Given the description of an element on the screen output the (x, y) to click on. 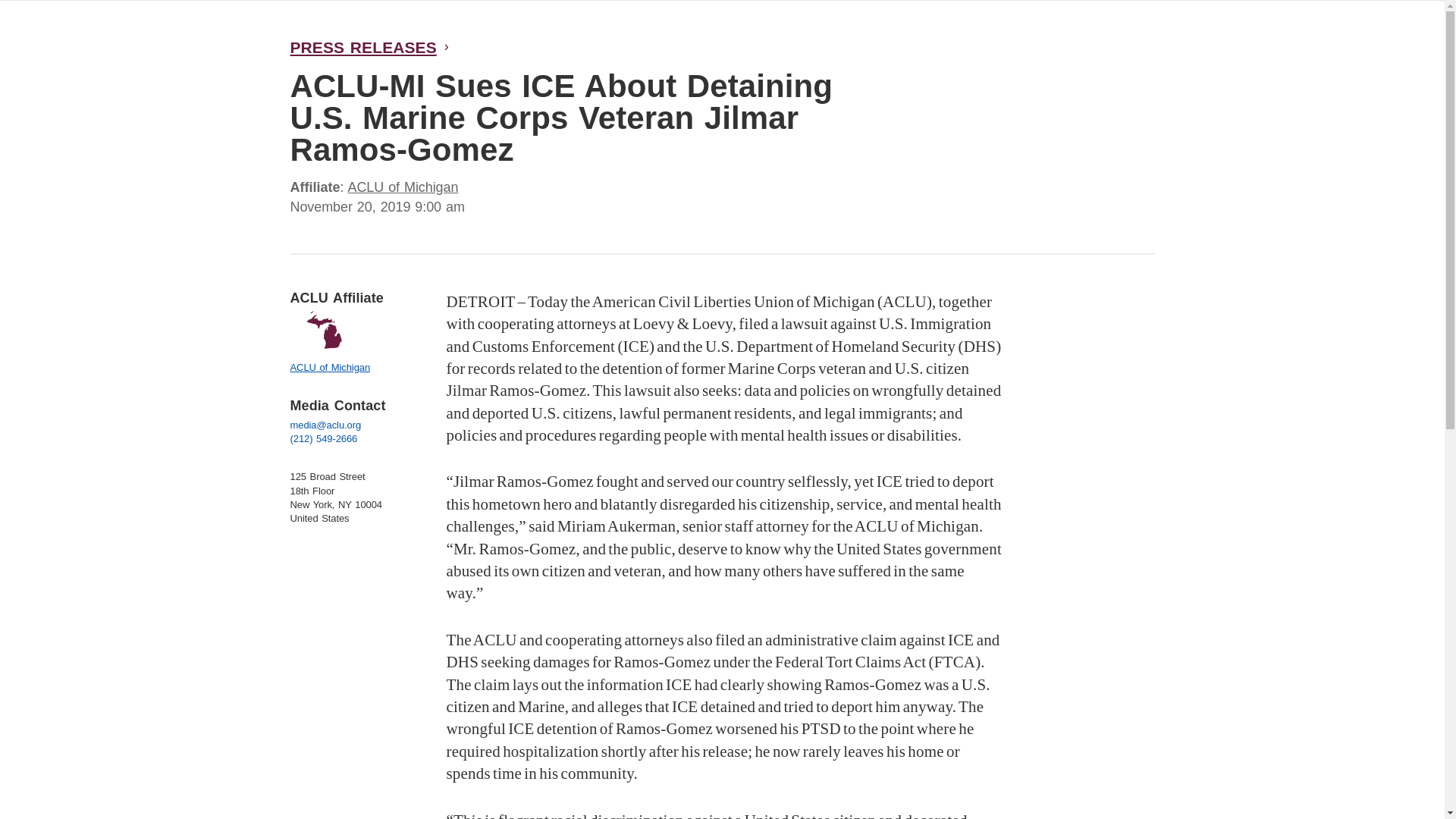
ACLU of Michigan (402, 186)
ACLU of Michigan (329, 342)
PRESS RELEASES (364, 47)
